Given the description of an element on the screen output the (x, y) to click on. 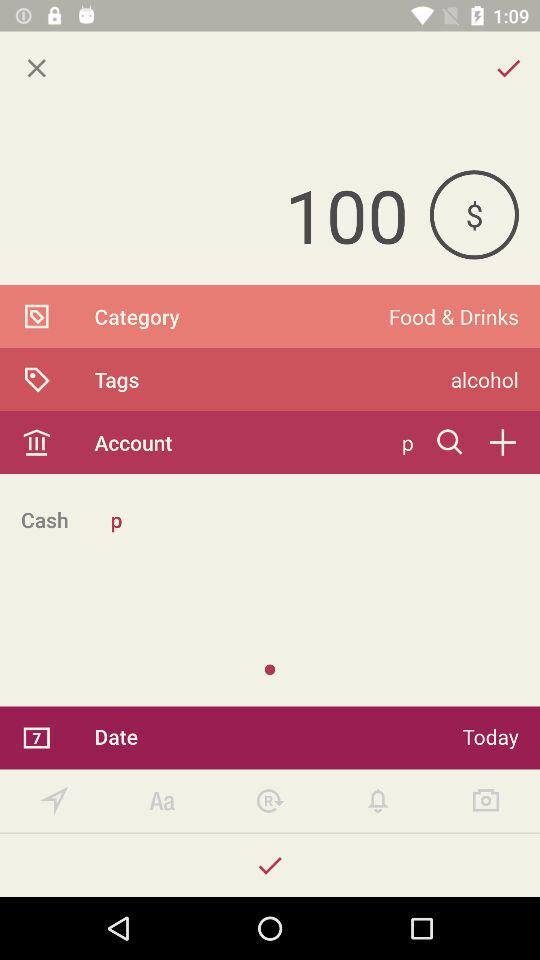
toggle location (54, 800)
